Given the description of an element on the screen output the (x, y) to click on. 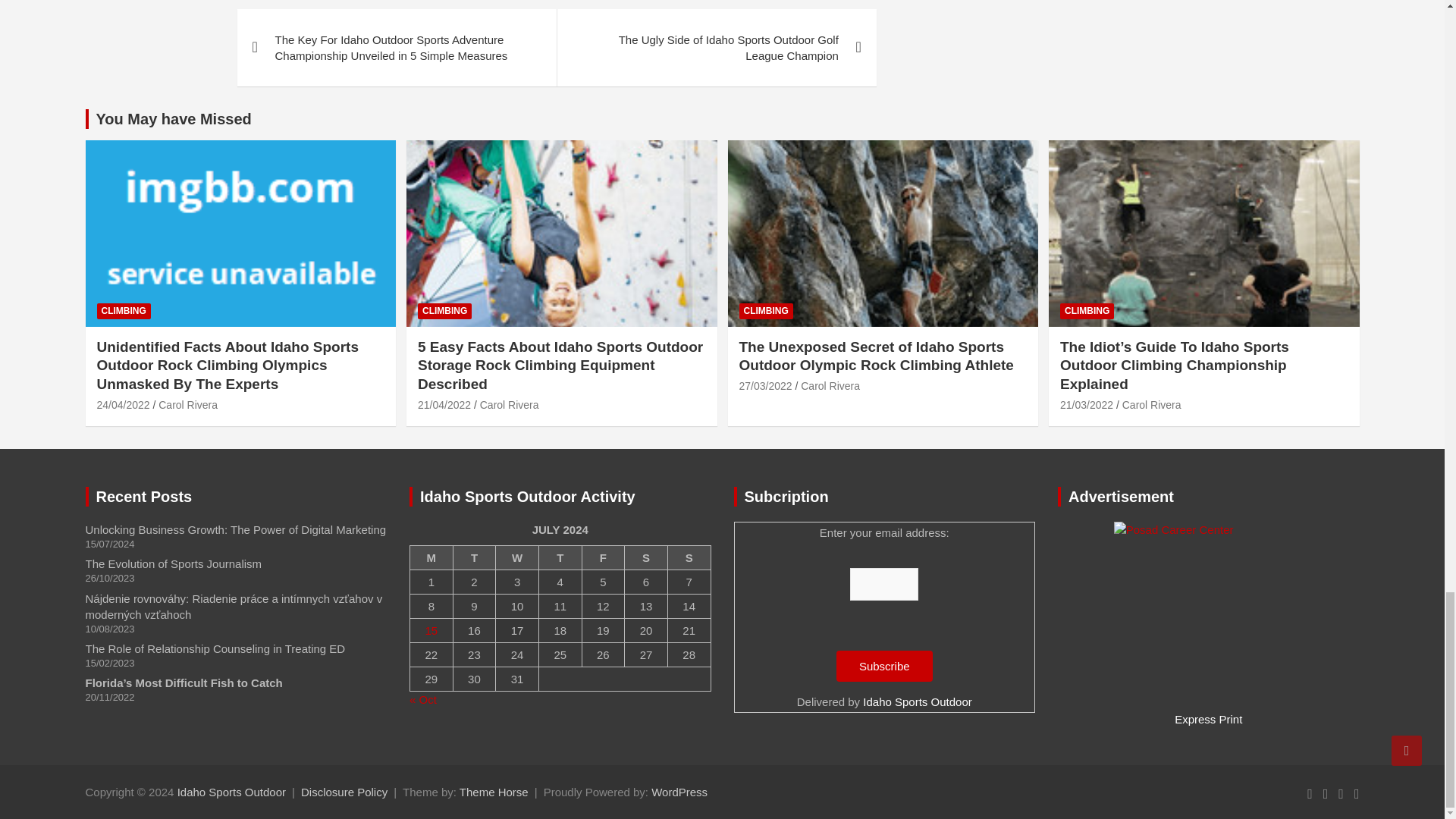
Monday (430, 558)
Thursday (559, 558)
Wednesday (517, 558)
Subscribe (884, 665)
Friday (602, 558)
The Ugly Side of Idaho Sports Outdoor Golf League Champion (716, 47)
Tuesday (474, 558)
